Given the description of an element on the screen output the (x, y) to click on. 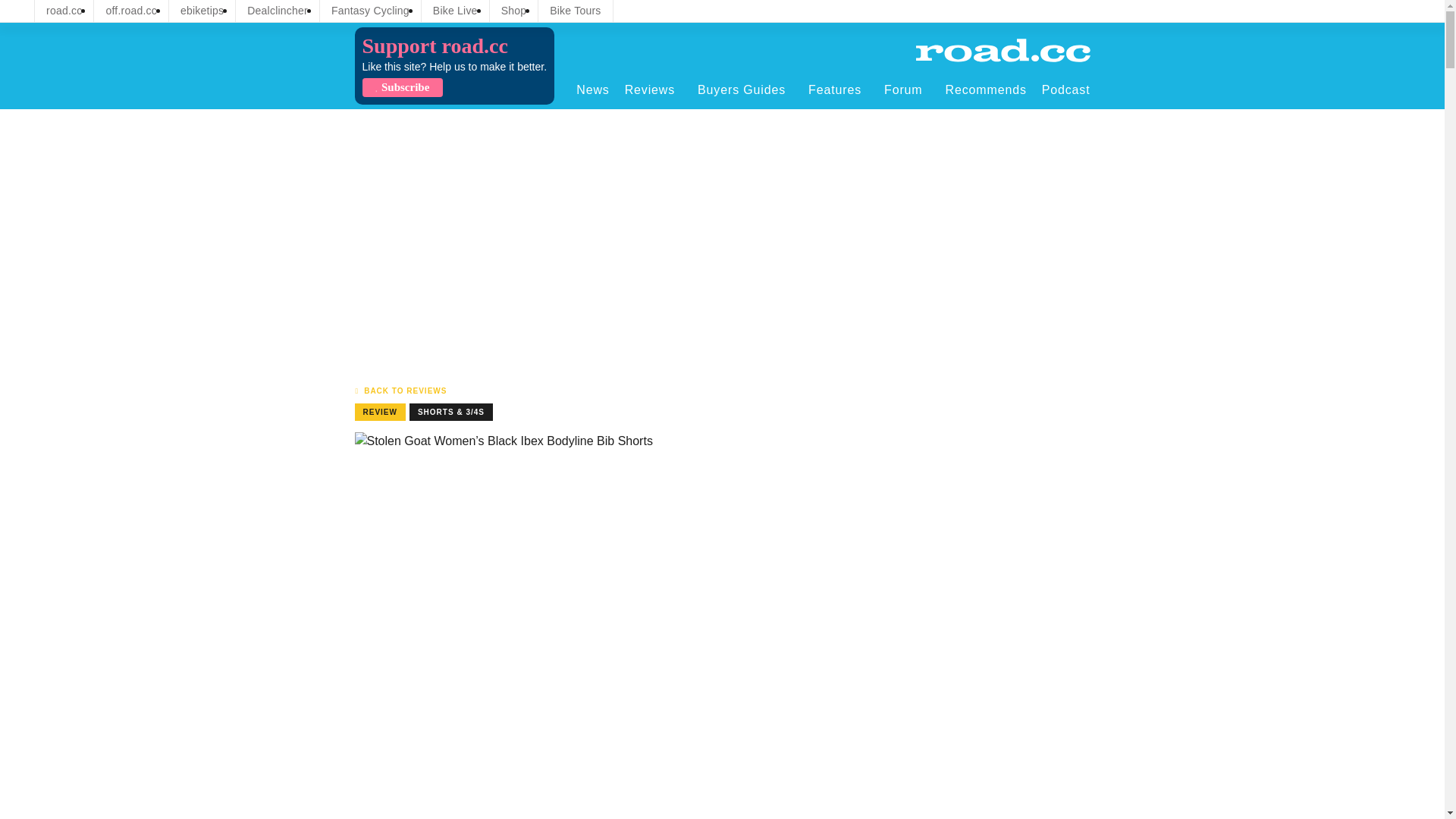
off.road.cc (131, 11)
Fantasy Cycling (370, 11)
Home (1002, 50)
Subscribe (402, 87)
ebiketips (201, 11)
Shop (513, 11)
Bike Live (455, 11)
Bike Tours (574, 11)
Dealclincher (276, 11)
Reviews (653, 89)
